Given the description of an element on the screen output the (x, y) to click on. 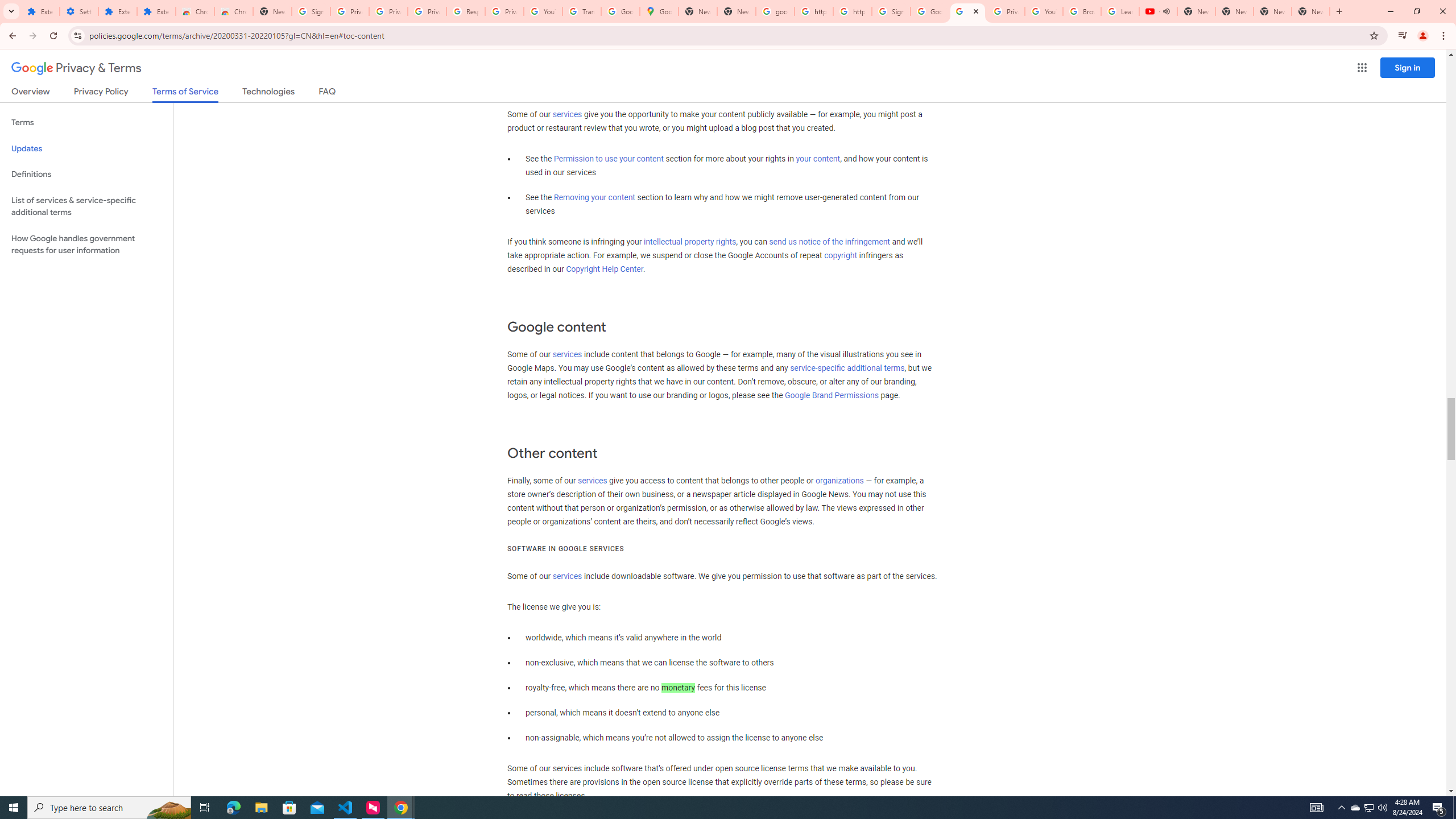
Extensions (156, 11)
services (566, 576)
service-specific additional terms (847, 368)
https://scholar.google.com/ (813, 11)
New Tab (272, 11)
